Given the description of an element on the screen output the (x, y) to click on. 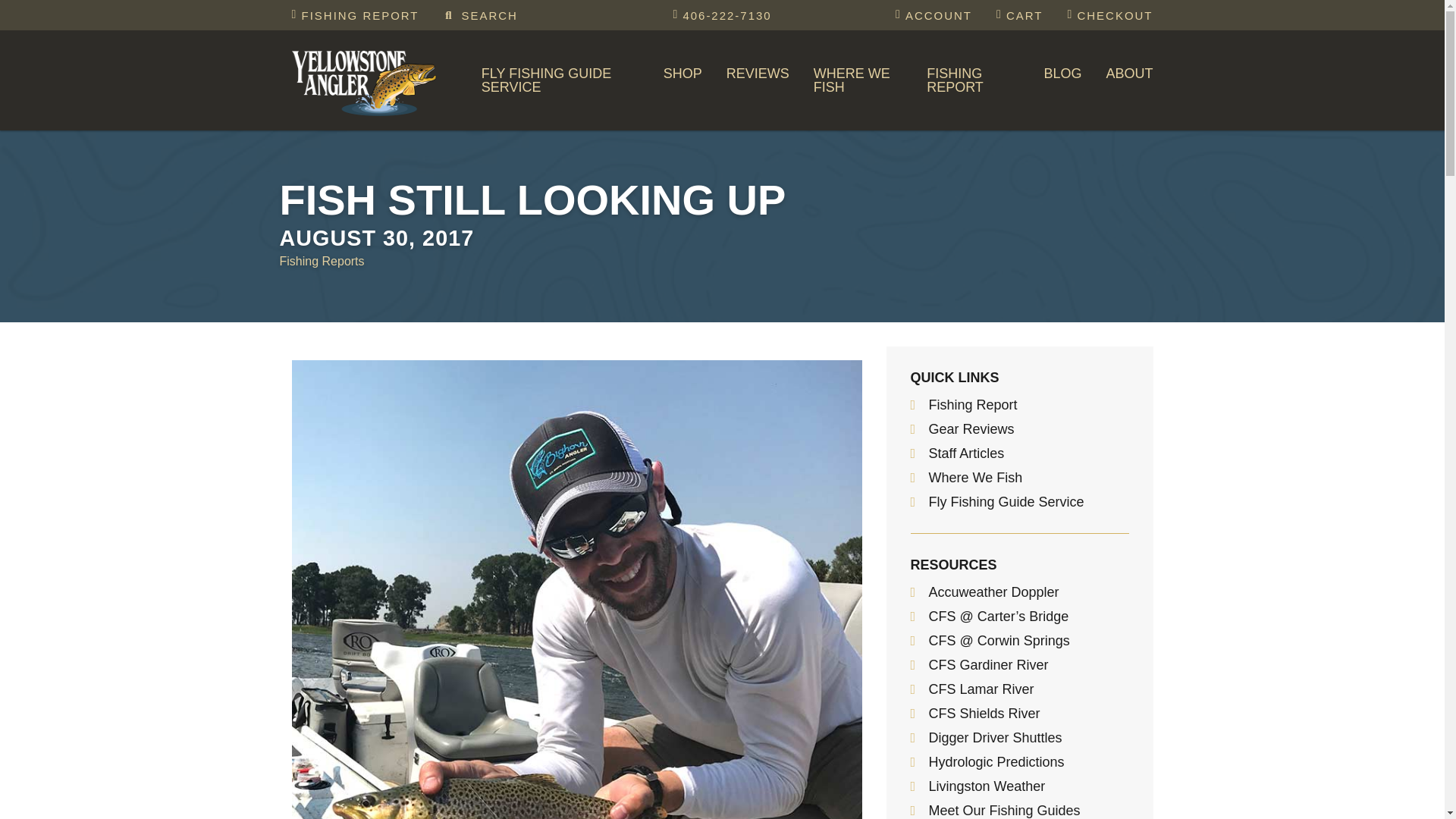
406-222-7130 (722, 15)
CHECKOUT (1109, 15)
REVIEWS (758, 73)
SEARCH (479, 15)
ACCOUNT (933, 15)
WHERE WE FISH (858, 80)
SHOP (682, 73)
FLY FISHING GUIDE SERVICE (559, 80)
MEET OUR FISHING GUIDES (581, 117)
SHOP ALL (763, 117)
CART (1019, 15)
FISHING REPORT (354, 15)
Yellowstone Angler (367, 79)
YELLOWSTONE RIVER (913, 117)
